Given the description of an element on the screen output the (x, y) to click on. 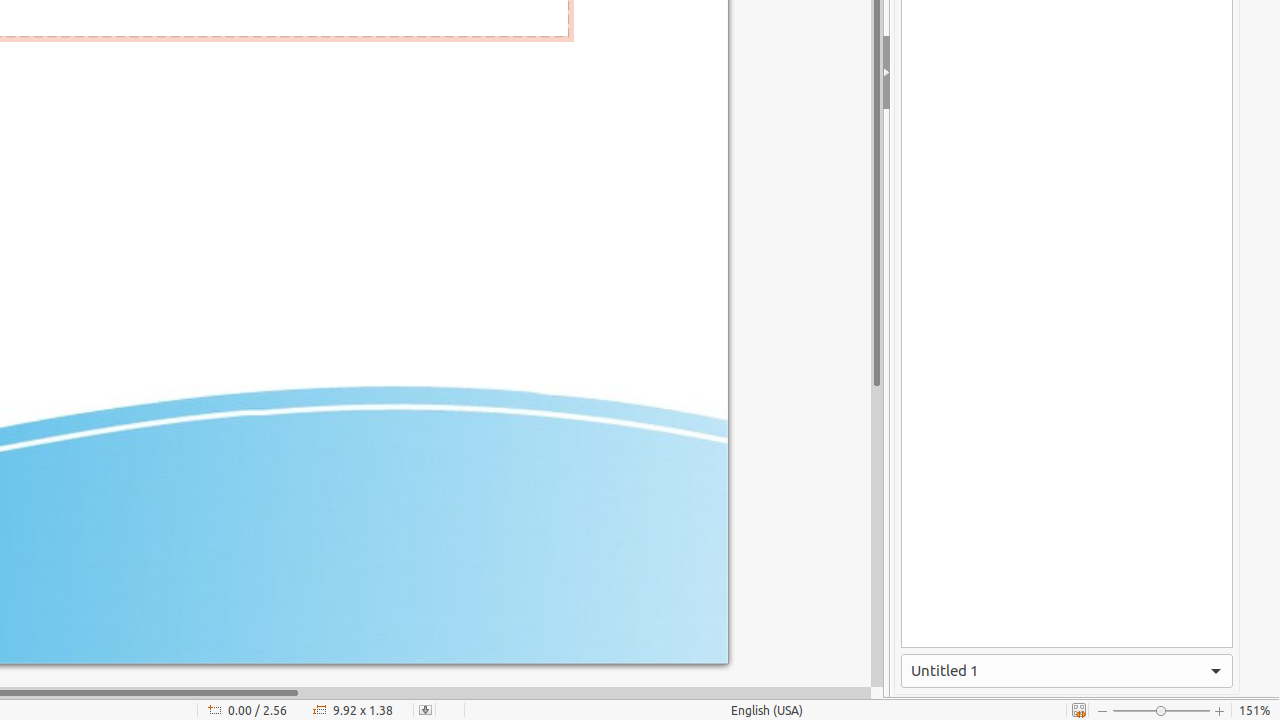
Active Window Element type: combo-box (1067, 671)
